Given the description of an element on the screen output the (x, y) to click on. 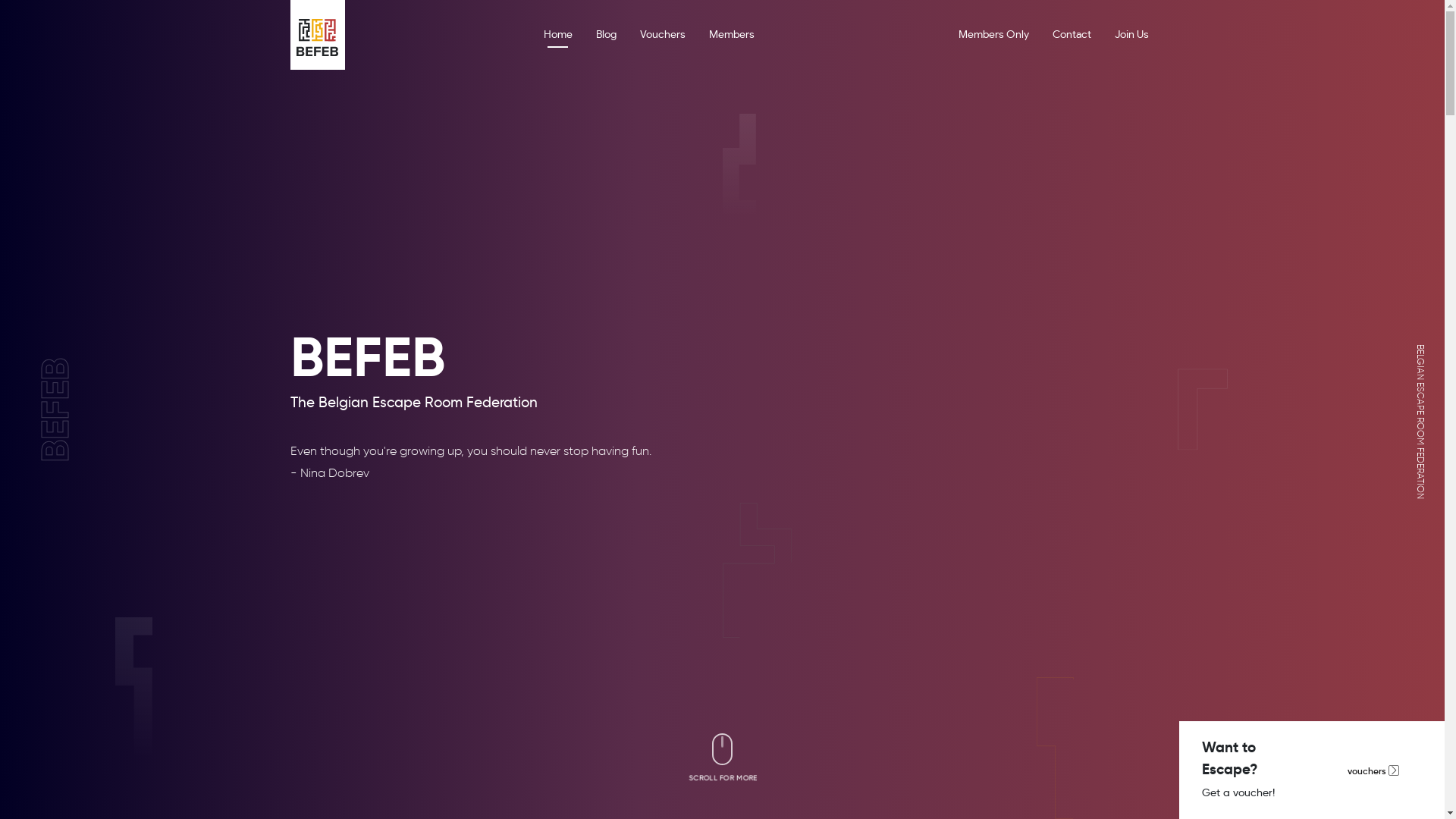
Members Element type: text (730, 34)
Blog Element type: text (605, 34)
Vouchers Element type: text (662, 34)
Members Only Element type: text (993, 34)
vouchers Element type: text (1372, 769)
Contact Element type: text (1071, 34)
Home Element type: text (556, 34)
SCROLL FOR MORE Element type: text (721, 760)
Join Us Element type: text (1131, 34)
